Given the description of an element on the screen output the (x, y) to click on. 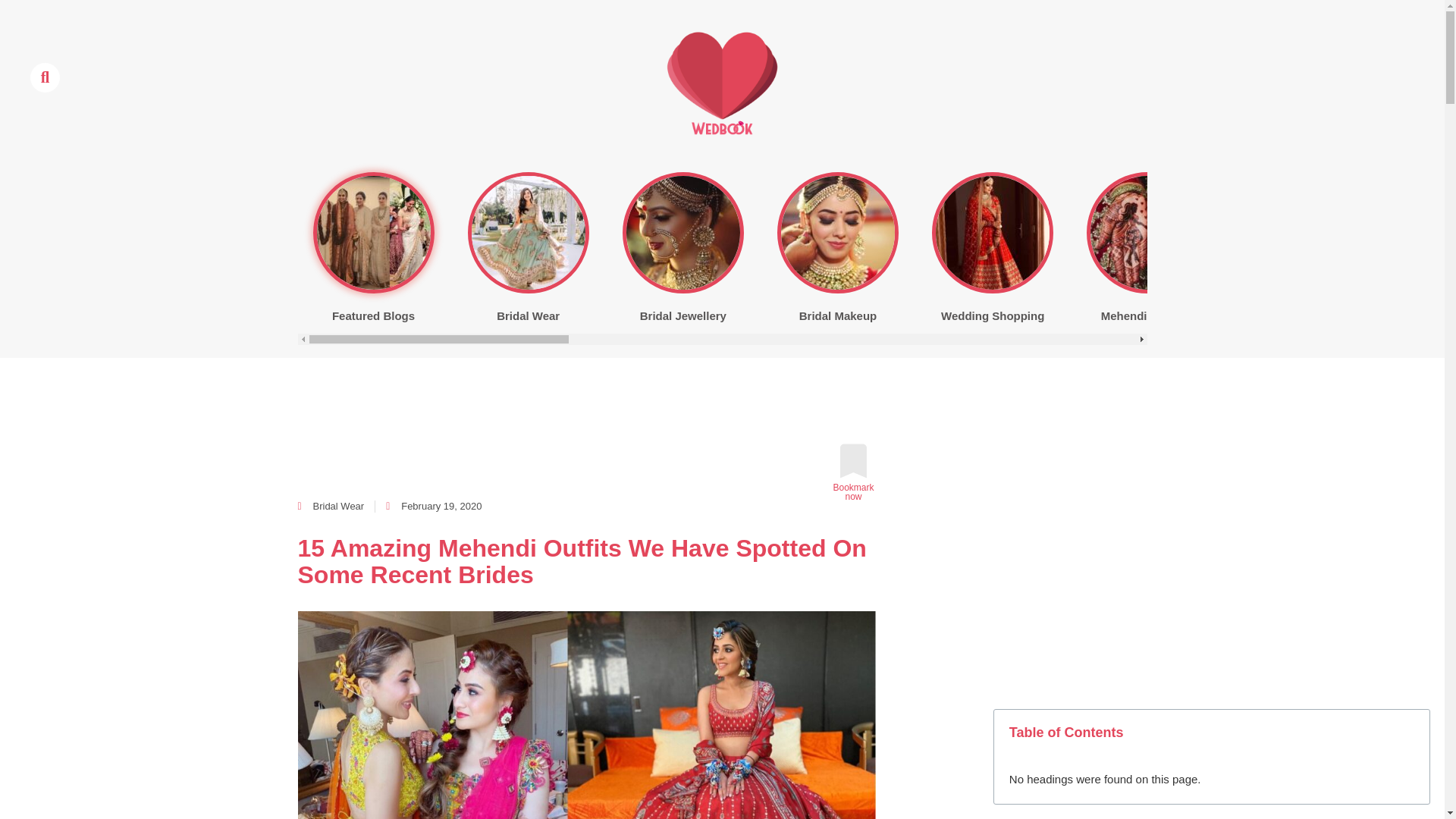
Advertisement (572, 399)
